Given the description of an element on the screen output the (x, y) to click on. 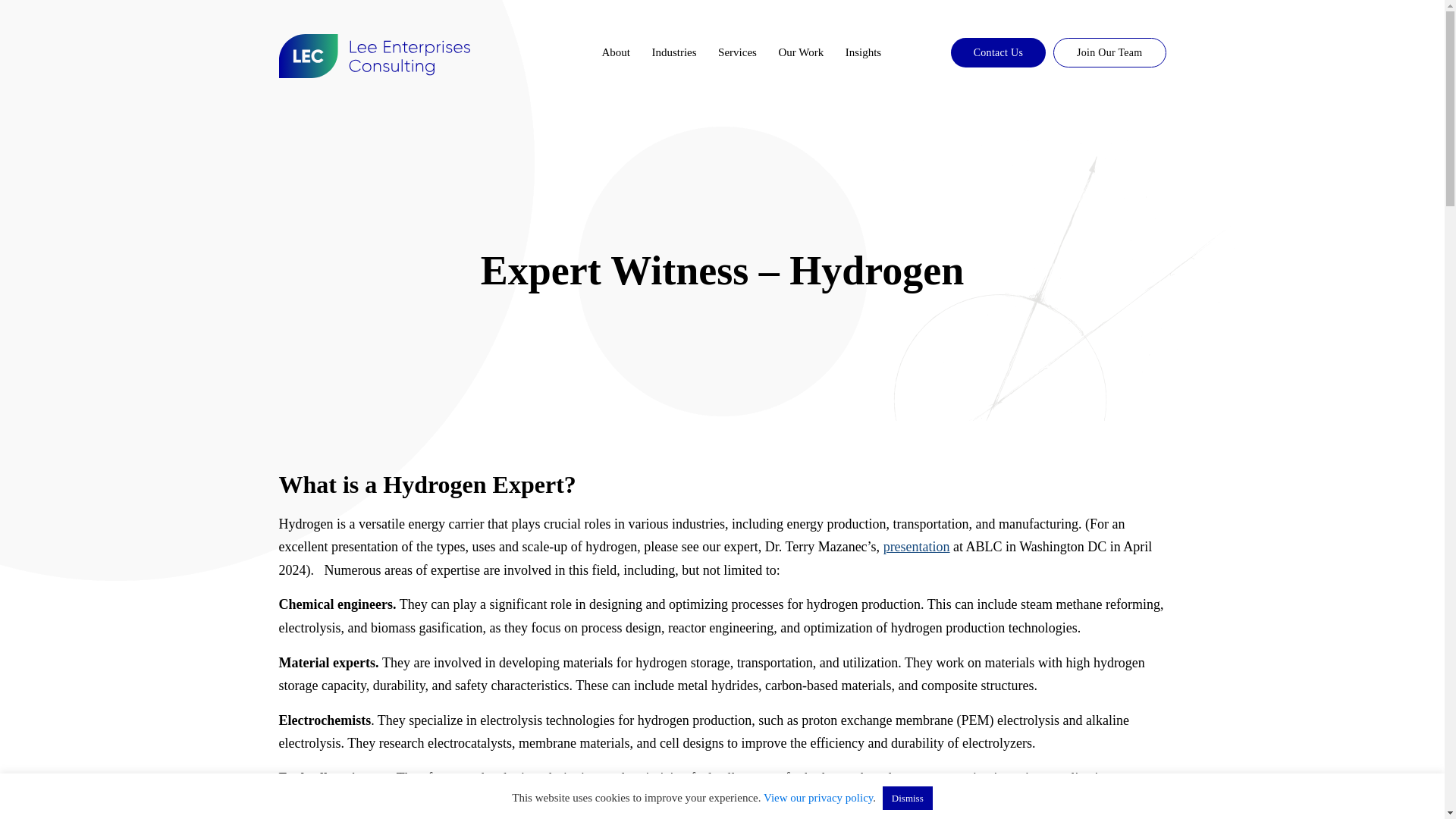
About (615, 51)
Industries (672, 51)
Services (737, 51)
Lee Enterprises Consulting (374, 55)
Insights (863, 51)
Join Our Team (1109, 52)
Our Work (800, 51)
Contact Us (997, 52)
presentation (916, 546)
